Given the description of an element on the screen output the (x, y) to click on. 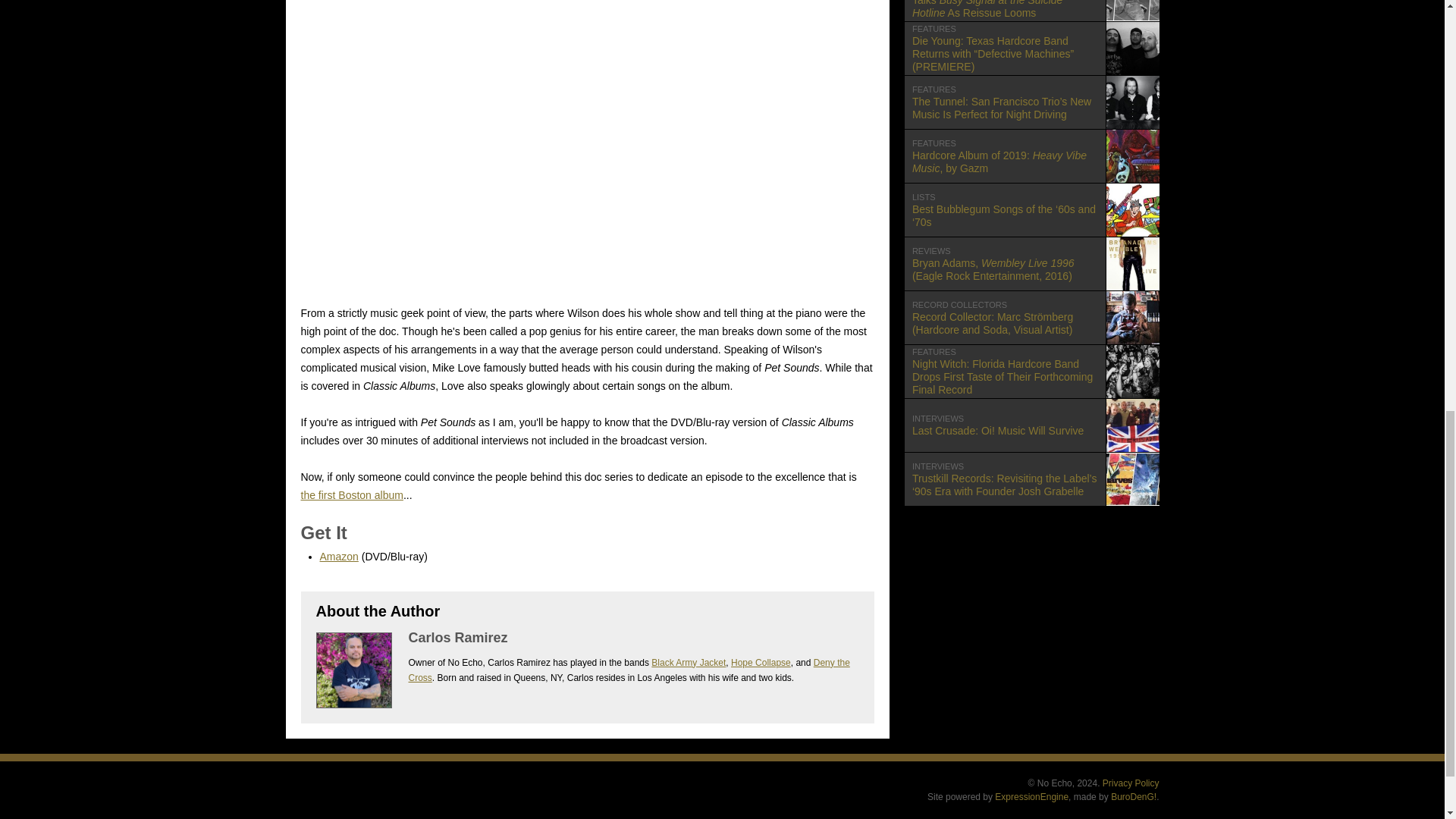
Amazon (1031, 155)
Deny the Cross (1031, 425)
the first Boston album (339, 556)
Black Army Jacket (627, 670)
Hope Collapse (351, 494)
